Given the description of an element on the screen output the (x, y) to click on. 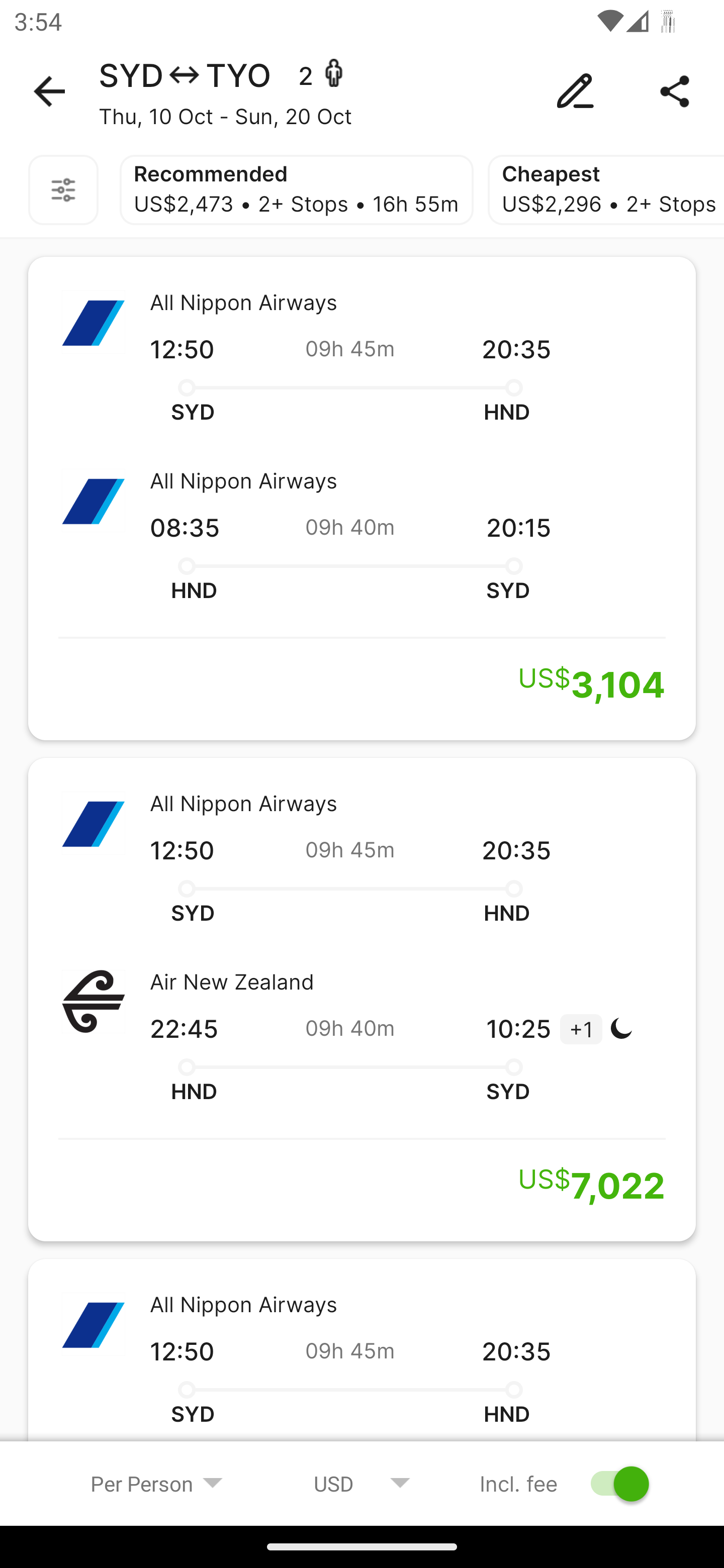
SYD TYO   2 - Thu, 10 Oct - Sun, 20 Oct (361, 91)
Recommended  US$2,473 • 2+ Stops • 16h 55m (296, 190)
Cheapest US$2,296 • 2+ Stops • 20h 57m (605, 190)
Per Person (156, 1482)
USD (361, 1482)
